Given the description of an element on the screen output the (x, y) to click on. 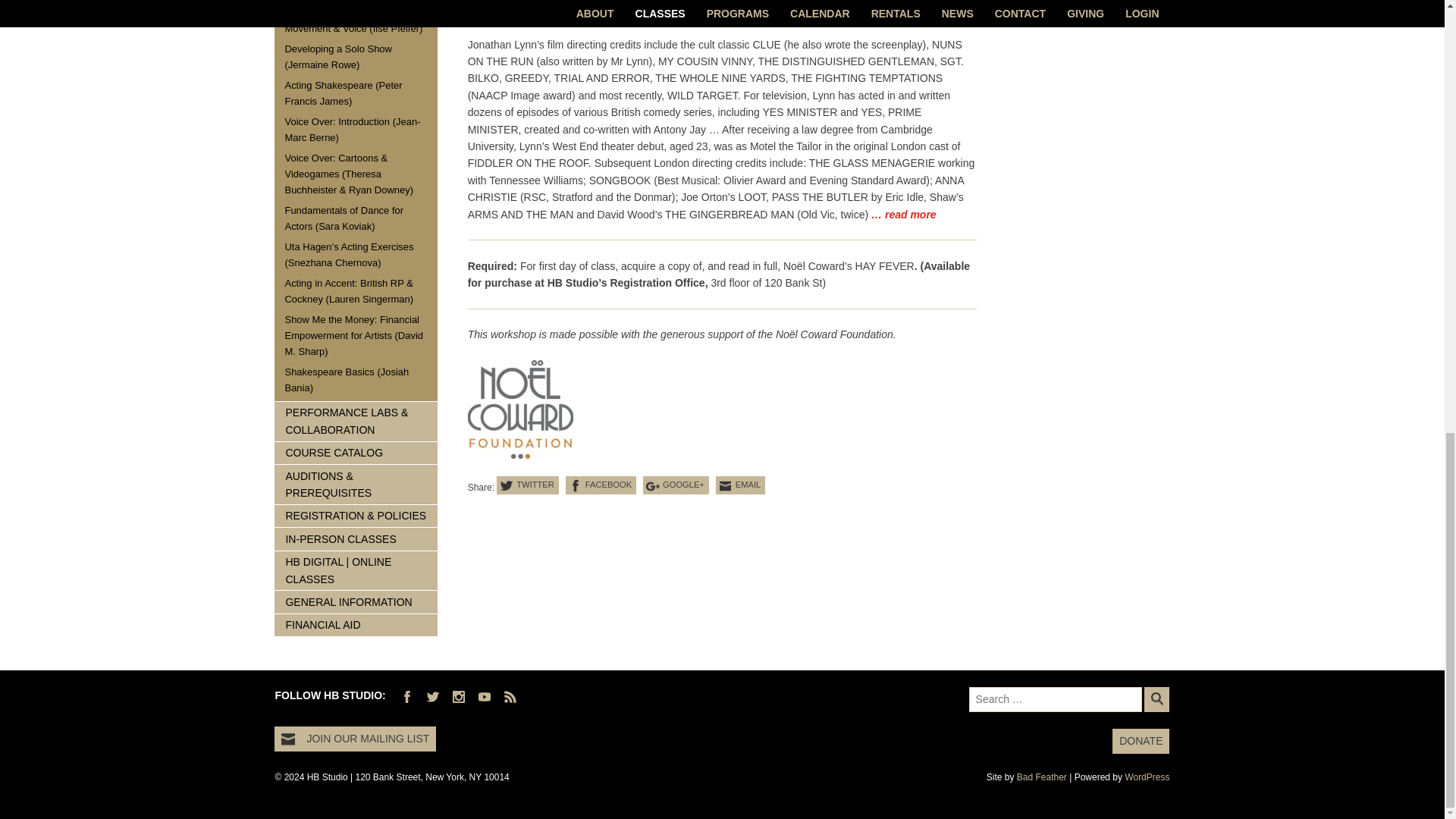
Facebook (601, 485)
Tweet (527, 485)
Email (740, 485)
Search (1156, 699)
Search (1156, 699)
